Given the description of an element on the screen output the (x, y) to click on. 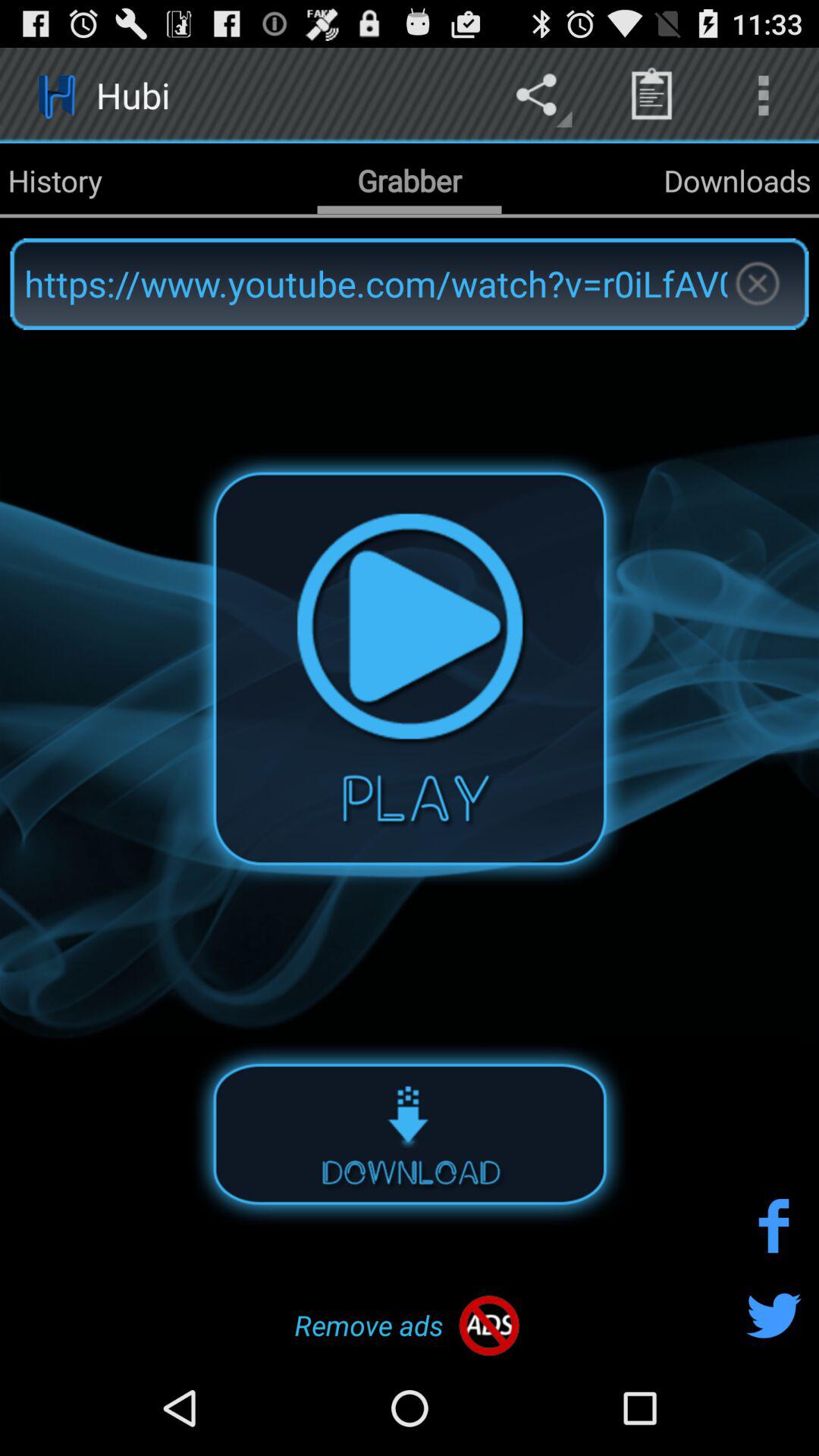
cancels search (756, 283)
